Given the description of an element on the screen output the (x, y) to click on. 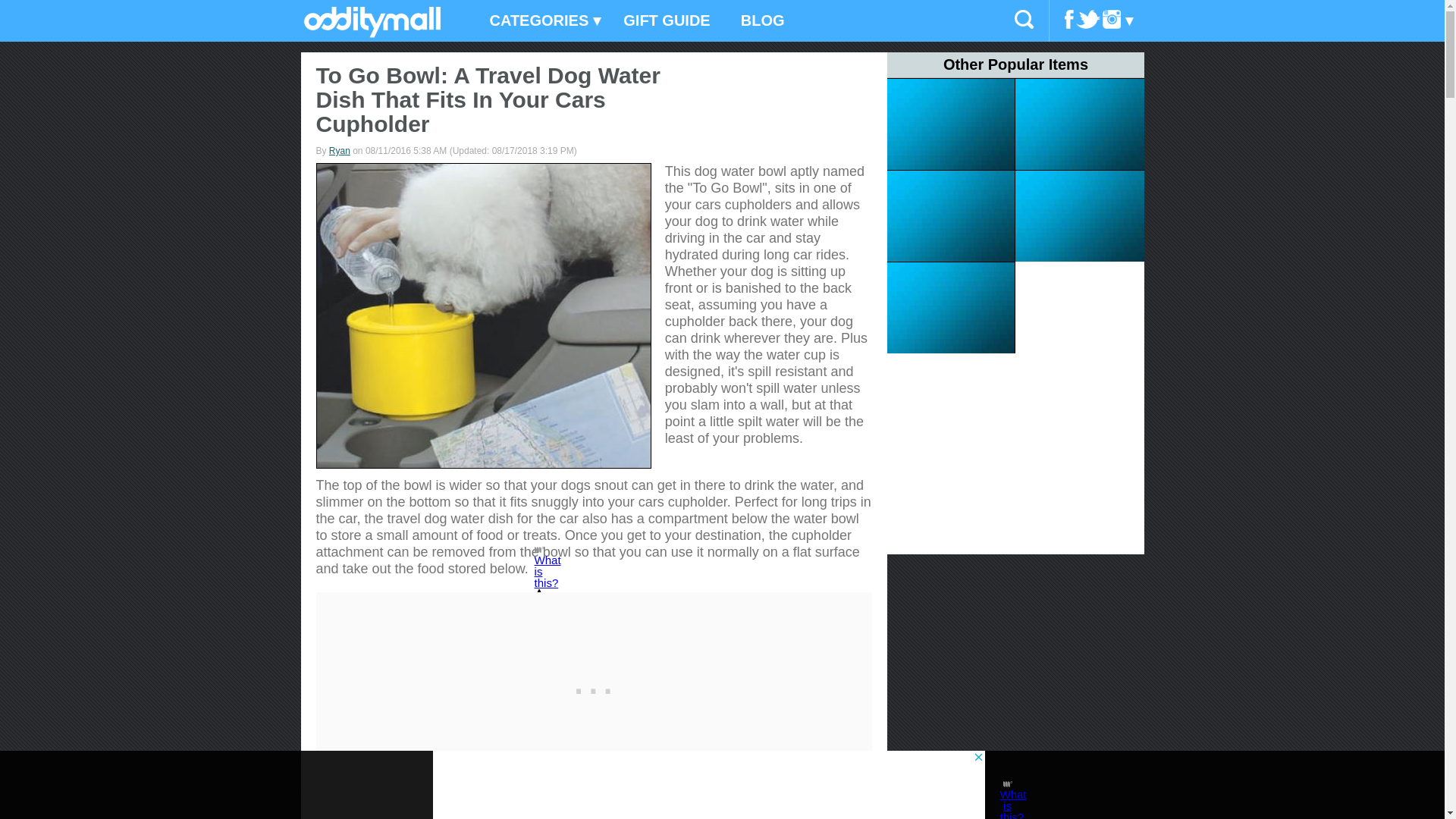
3rd party ad content (593, 687)
CATEGORIES (541, 20)
GIFT GUIDE (666, 20)
Unique Gifts - Unusual Gift Ideas (371, 32)
BLOG (762, 20)
Ryan (339, 150)
